Given the description of an element on the screen output the (x, y) to click on. 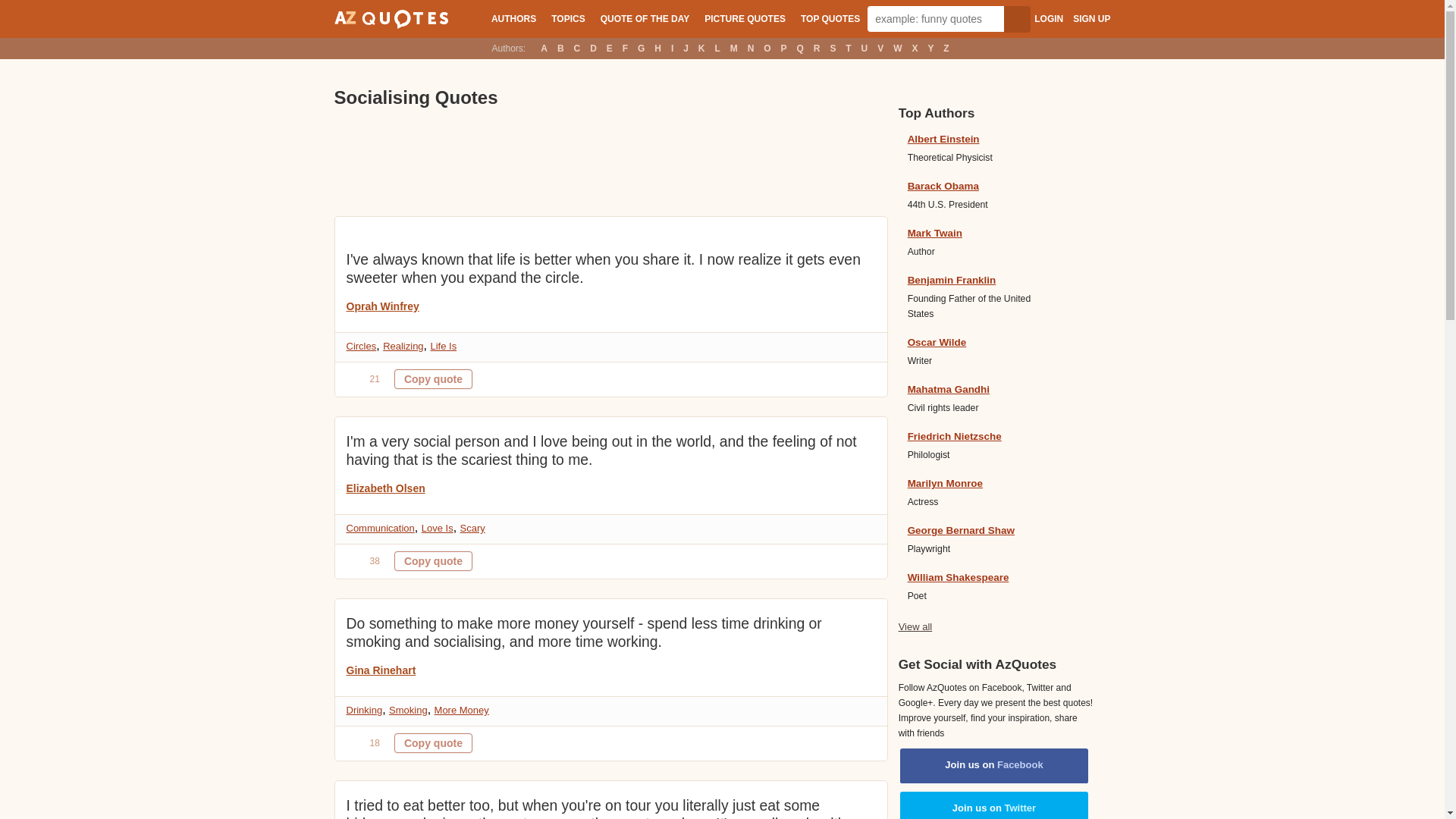
Quote is copied (432, 560)
Quote is copied (432, 742)
LOGIN (1047, 18)
QUOTE OF THE DAY (644, 18)
SIGN UP (1091, 18)
TOP QUOTES (830, 18)
TOPICS (567, 18)
PICTURE QUOTES (745, 18)
Quote is copied (432, 379)
AUTHORS (513, 18)
